Given the description of an element on the screen output the (x, y) to click on. 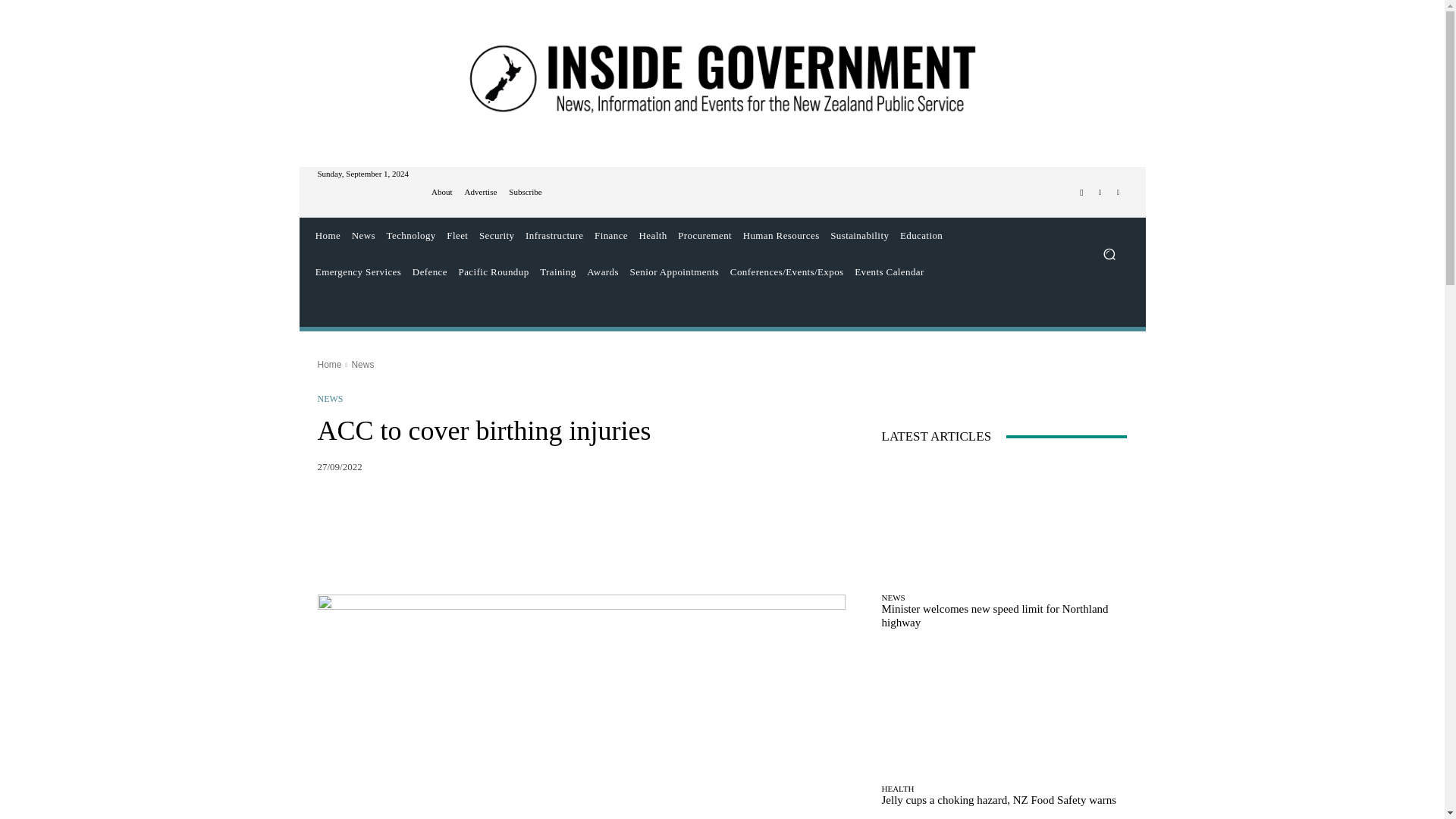
News (363, 235)
Linkedin (1117, 192)
About (441, 192)
Facebook (1080, 192)
Procurement (704, 235)
Security (496, 235)
Twitter (1099, 192)
Minister welcomes new speed limit for Northland highway (1003, 522)
Finance (611, 235)
Infrastructure (554, 235)
